Given the description of an element on the screen output the (x, y) to click on. 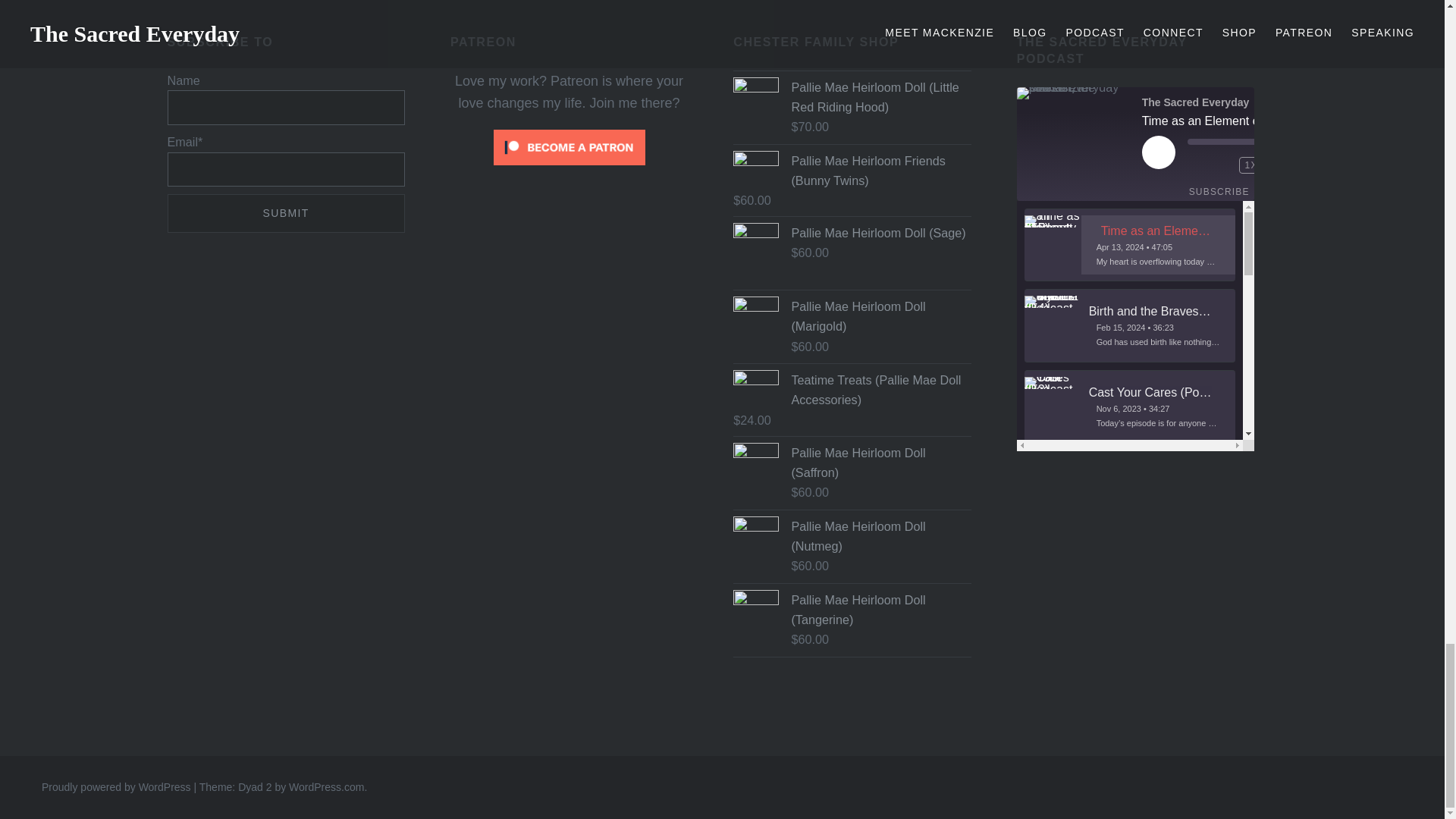
The Sacred Everyday (1073, 92)
Subscribe (1218, 191)
Seek (1252, 141)
Playback Speed (1251, 165)
Play (1157, 151)
Submit (285, 213)
